Given the description of an element on the screen output the (x, y) to click on. 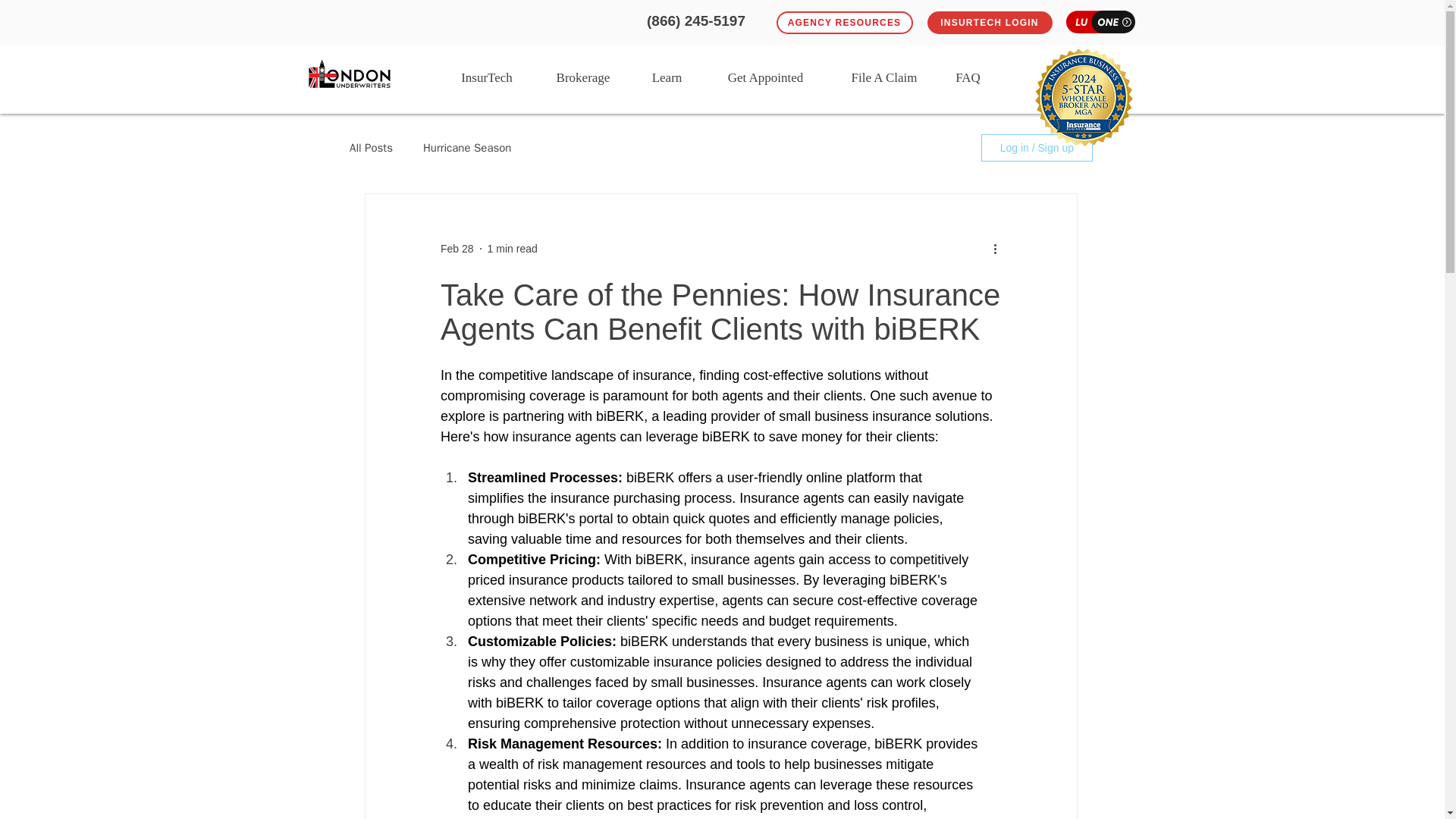
IBA 5-Star Wholesale Brokers and MGAs 20 (1083, 96)
Feb 28 (457, 248)
Brokerage (583, 74)
Get Appointed (764, 74)
AGENCY RESOURCES (844, 22)
InsurTech (485, 74)
INSURTECH LOGIN (988, 22)
1 min read (512, 248)
